Given the description of an element on the screen output the (x, y) to click on. 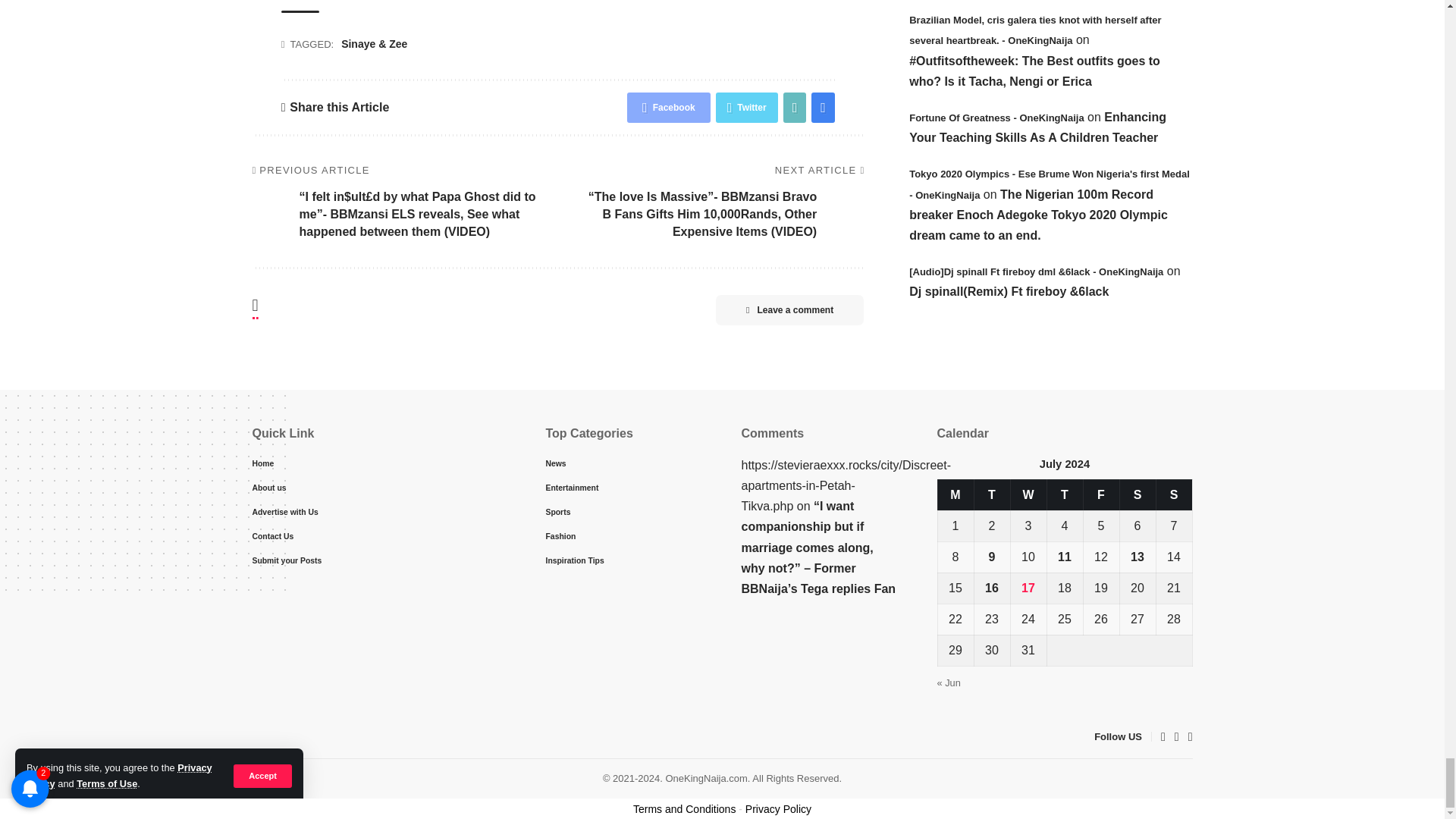
Tuesday (992, 494)
Monday (955, 494)
